Given the description of an element on the screen output the (x, y) to click on. 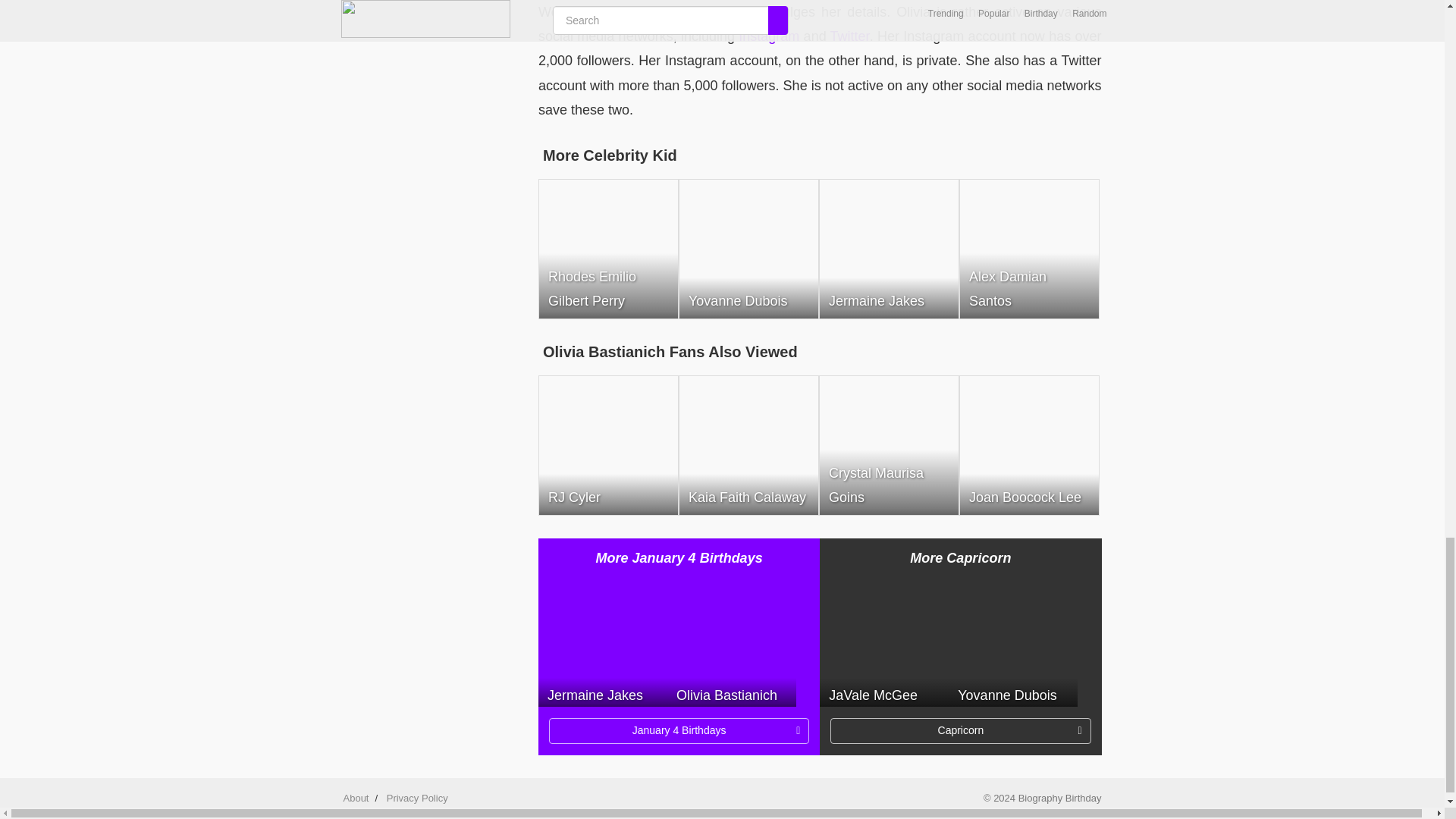
Olivia Bastianich (731, 642)
Jermaine Jakes (602, 642)
Twitter (849, 36)
Instagram (768, 36)
